Given the description of an element on the screen output the (x, y) to click on. 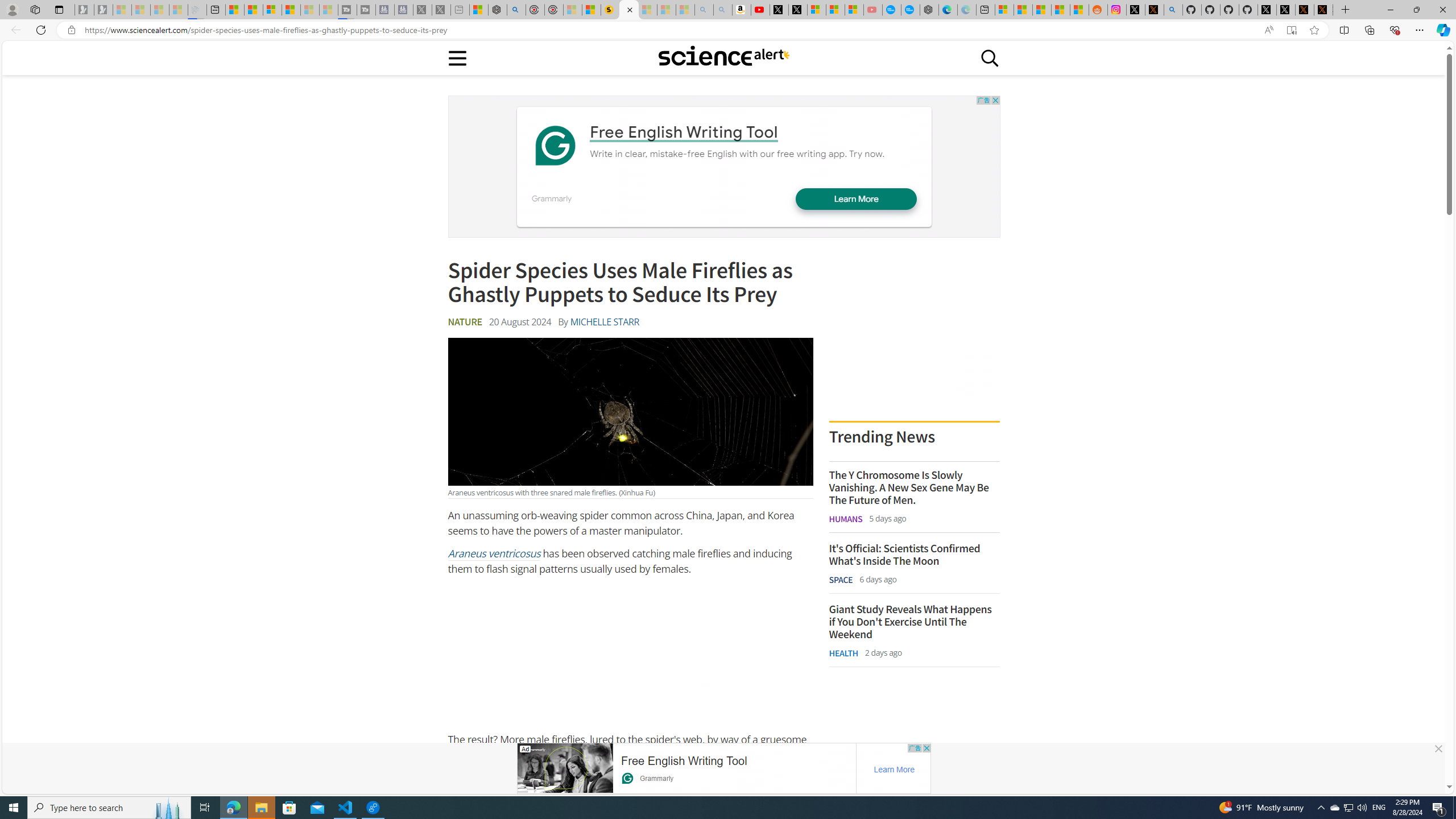
Abscondita terminalis (574, 792)
Overview (271, 9)
GitHub (@github) / X (1285, 9)
NATURE (463, 321)
Nordace - Nordace has arrived Hong Kong (929, 9)
X Privacy Policy (1323, 9)
Araneus ventricosus (493, 553)
